Given the description of an element on the screen output the (x, y) to click on. 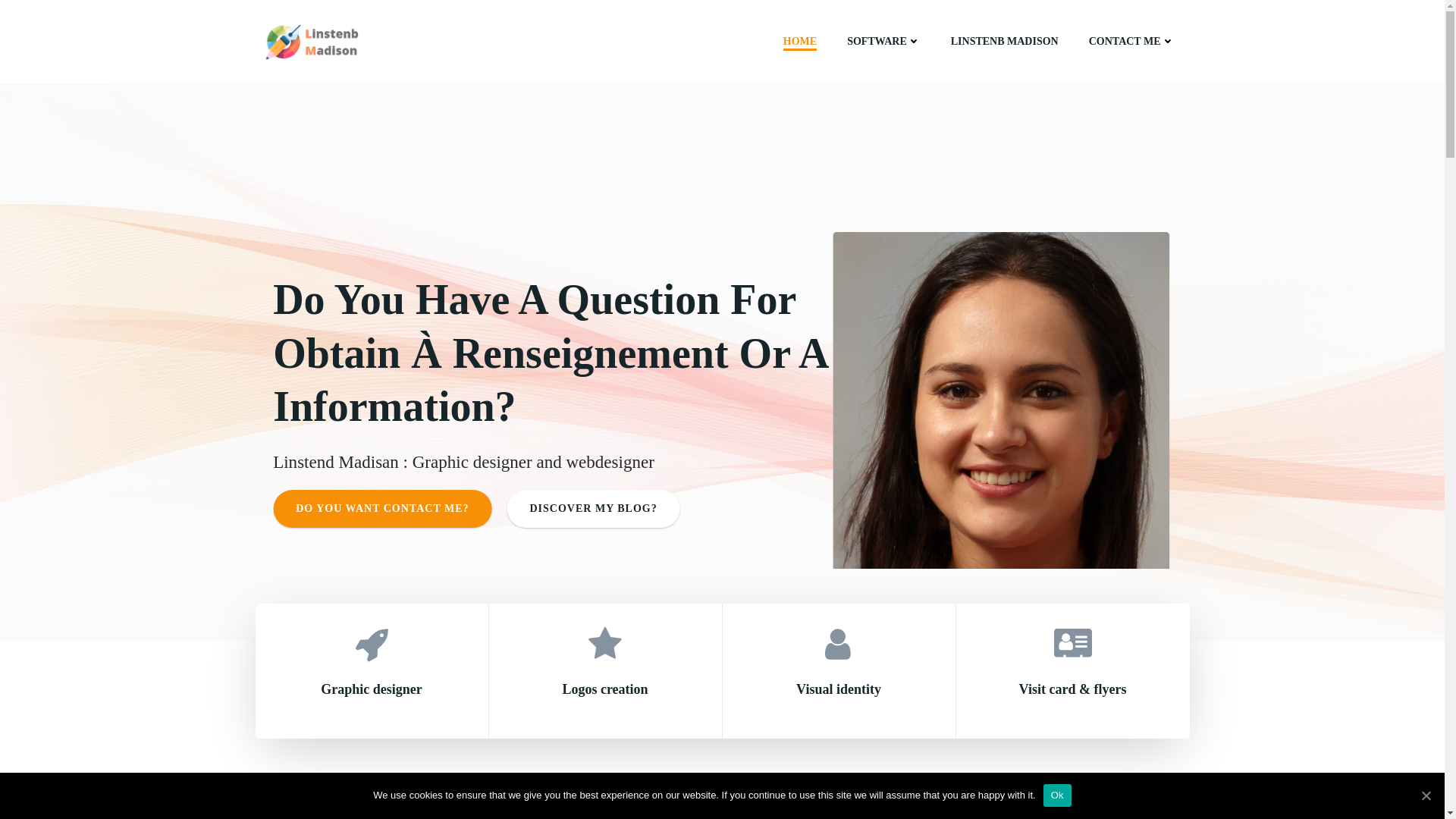
CONTACT ME (1131, 41)
Ok (1057, 794)
DISCOVER MY BLOG? (592, 508)
DO YOU WANT CONTACT ME? (382, 508)
HOME (799, 41)
LINSTENB MADISON (1004, 41)
SOFTWARE (883, 41)
